Given the description of an element on the screen output the (x, y) to click on. 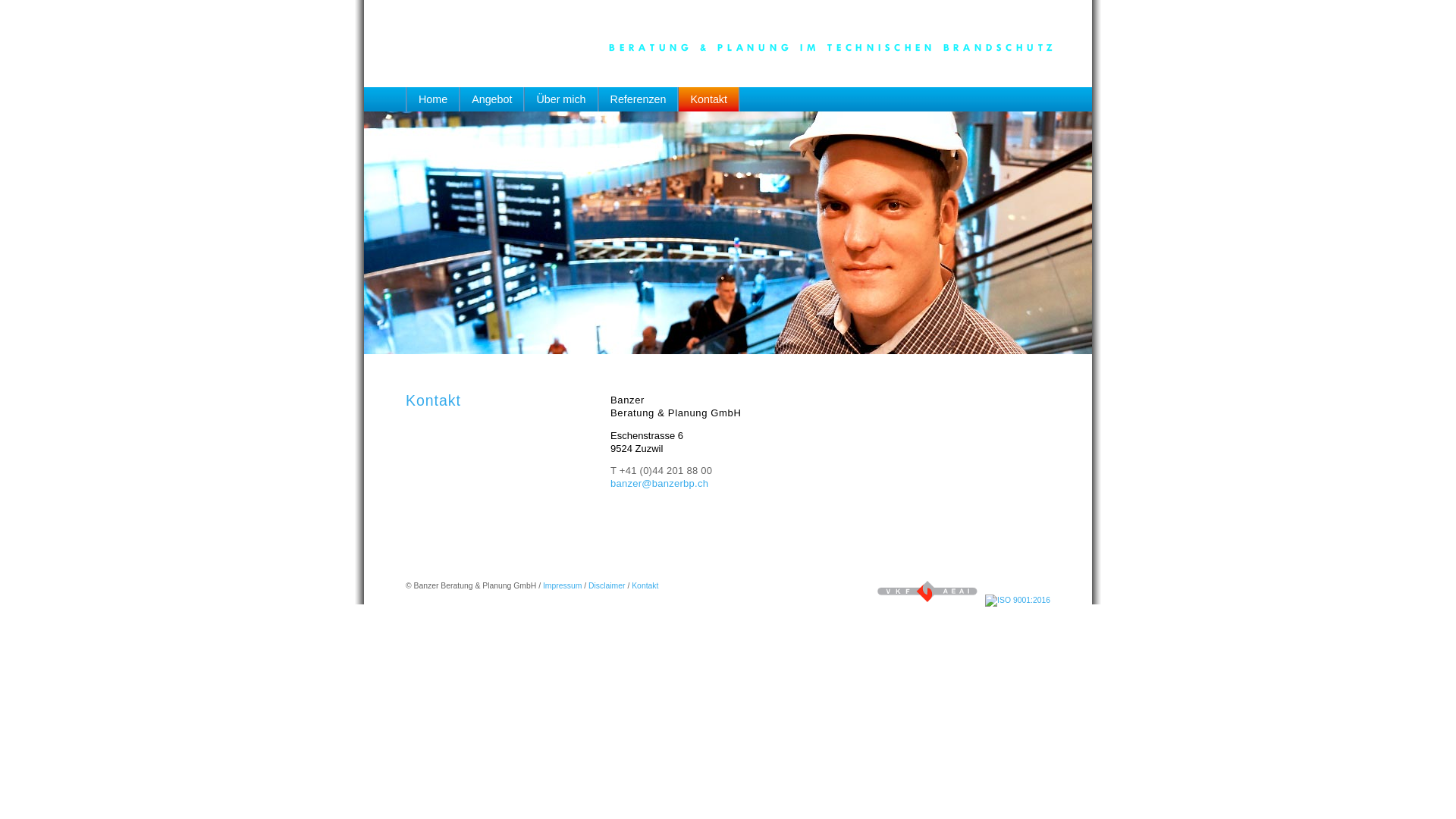
Disclaimer Element type: text (606, 585)
banzer@banzerbp.ch Element type: text (659, 483)
Kontakt Element type: text (644, 585)
  Element type: text (739, 86)
Angebot Element type: text (492, 103)
Impressum Element type: text (561, 585)
Home Element type: text (432, 103)
Referenzen Element type: text (638, 103)
